Given the description of an element on the screen output the (x, y) to click on. 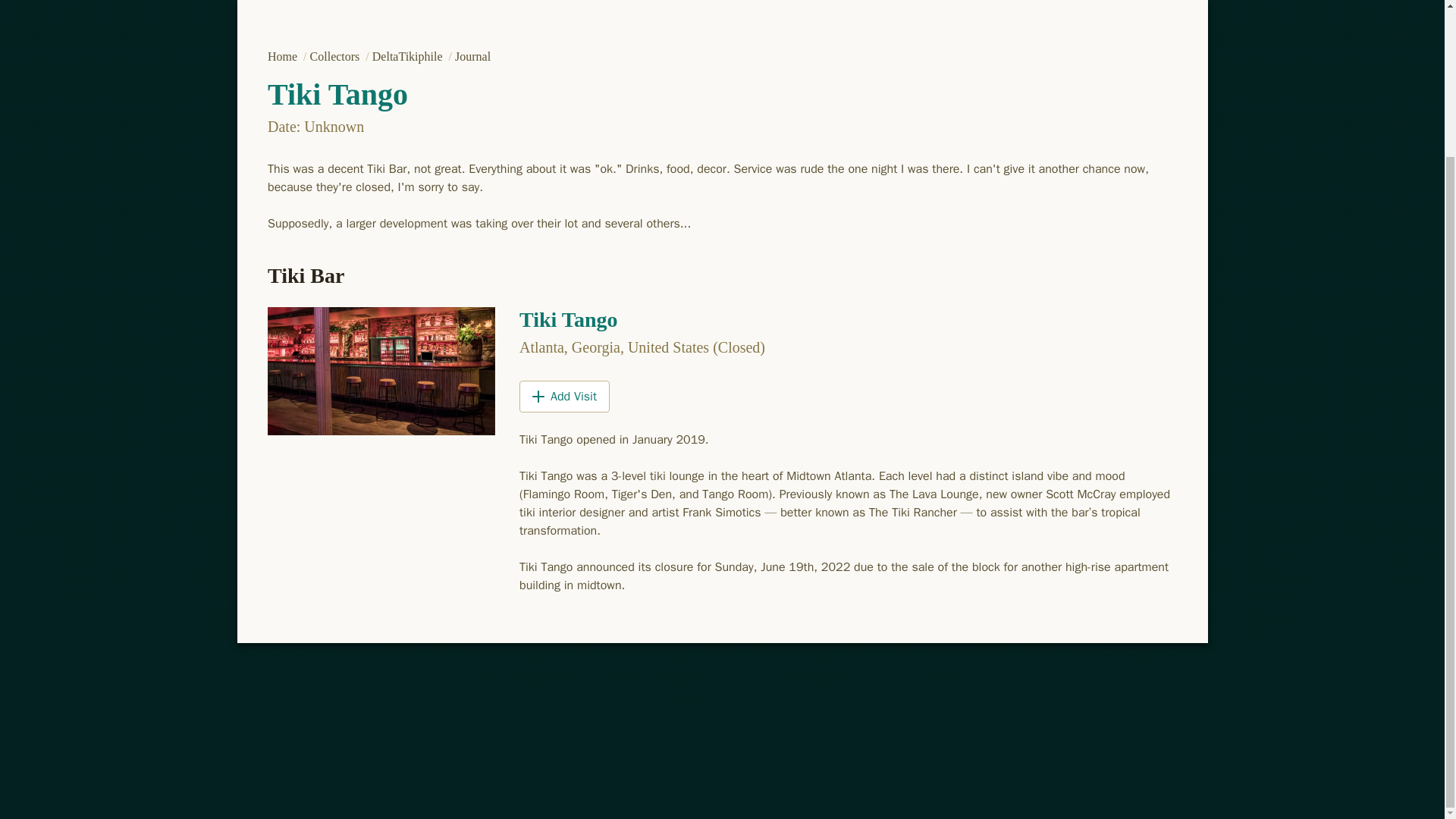
DeltaTikiphile (408, 56)
Add Visit (563, 396)
DeltaTikiphile (408, 56)
Tiki Tango (566, 319)
Home (282, 56)
Home (282, 56)
Journal (471, 56)
Journal (471, 56)
Collectors (335, 56)
Collectors (335, 56)
